Given the description of an element on the screen output the (x, y) to click on. 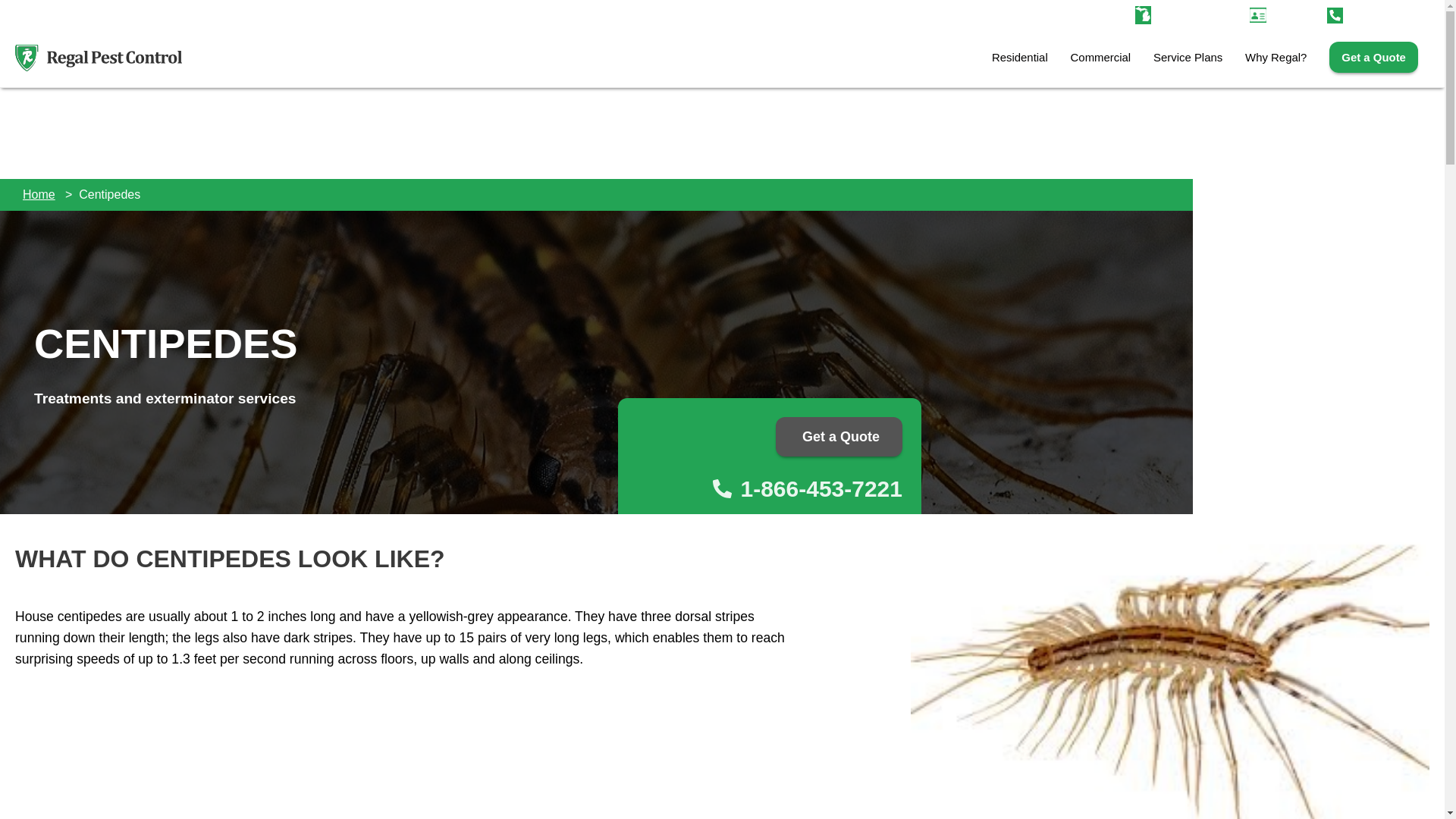
   Log in      (1279, 14)
1-866-453-7221 (759, 488)
Service Area          (1199, 14)
Service Plans (1187, 57)
 Get a Quote  (1373, 57)
Why Regal? (1275, 57)
Get a Quote (839, 436)
Commercial (1100, 57)
Residential (1019, 57)
